Given the description of an element on the screen output the (x, y) to click on. 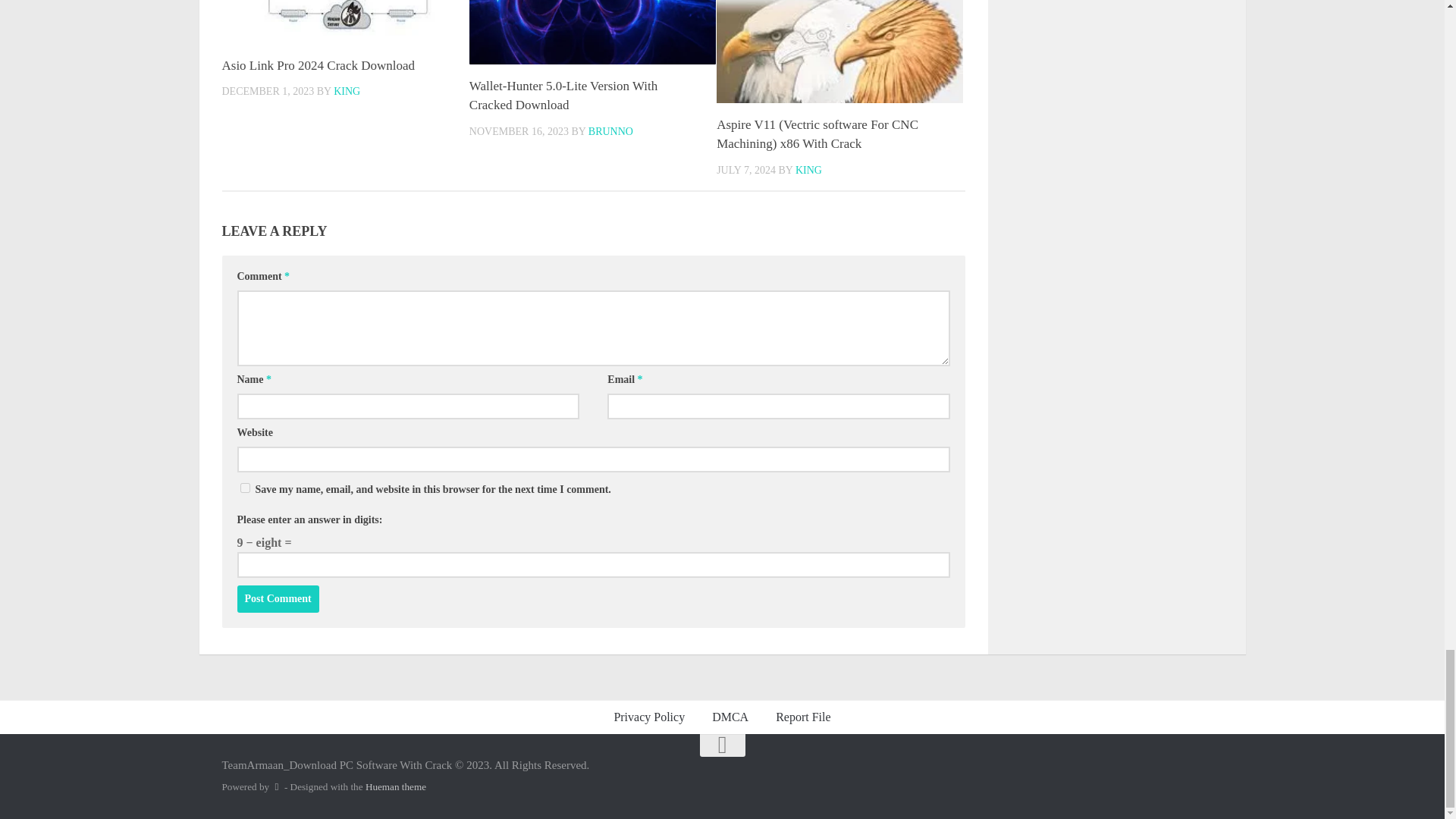
Post Comment (276, 598)
Posts by King (346, 91)
Posts by Brunno (610, 131)
yes (244, 488)
Posts by King (808, 170)
